Given the description of an element on the screen output the (x, y) to click on. 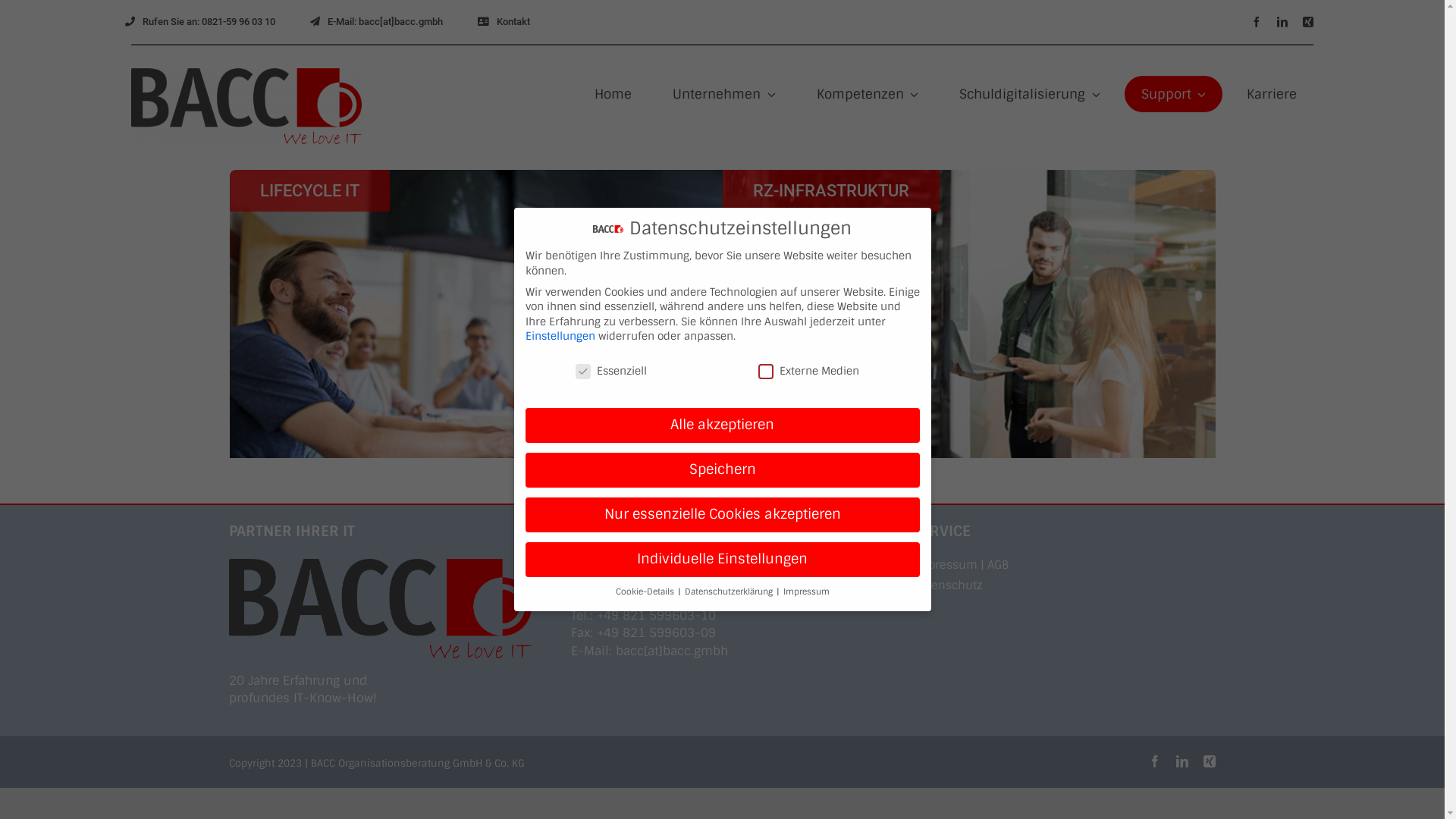
Einstellungen Element type: text (559, 335)
Karriere Element type: text (1271, 93)
BACC-logo-footer Element type: hover (380, 608)
Rufen Sie an: 0821-59 96 03 10 Element type: text (199, 21)
Alle akzeptieren Element type: text (721, 424)
bacc[at]bacc.gmbh Element type: text (671, 650)
Cookie-Details Element type: text (645, 591)
Speichern Element type: text (721, 469)
Datenschutz Element type: text (1064, 585)
Kontakt Element type: text (503, 21)
LIFECYCLE IT Element type: text (309, 190)
Impressum | AGB Element type: text (1064, 565)
Impressum Element type: text (805, 591)
Chatbot Element type: hover (1383, 757)
Individuelle Einstellungen Element type: text (721, 559)
Kompetenzen Element type: text (867, 93)
E-Mail: bacc[at]bacc.gmbh Element type: text (376, 21)
Schuldigitalisierung Element type: text (1029, 93)
RZ-INFRASTRUKTUR Element type: text (829, 190)
Home Element type: text (612, 93)
Nur essenzielle Cookies akzeptieren Element type: text (721, 514)
Support Element type: text (1173, 93)
Unternehmen Element type: text (723, 93)
